Given the description of an element on the screen output the (x, y) to click on. 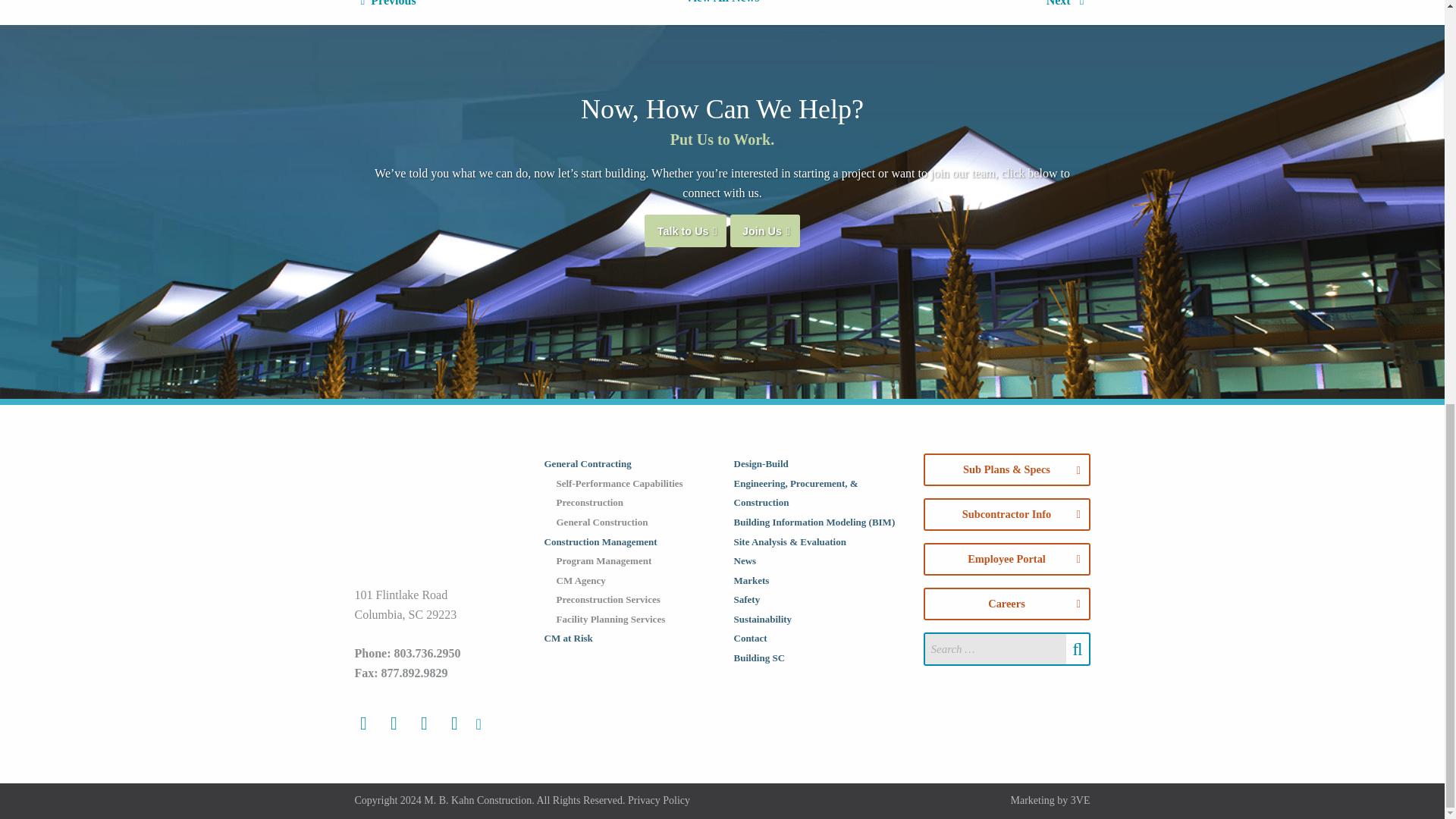
M. B. Kahn Construction (438, 510)
M. B. Kahn Construction (438, 517)
Search for: (995, 648)
